Given the description of an element on the screen output the (x, y) to click on. 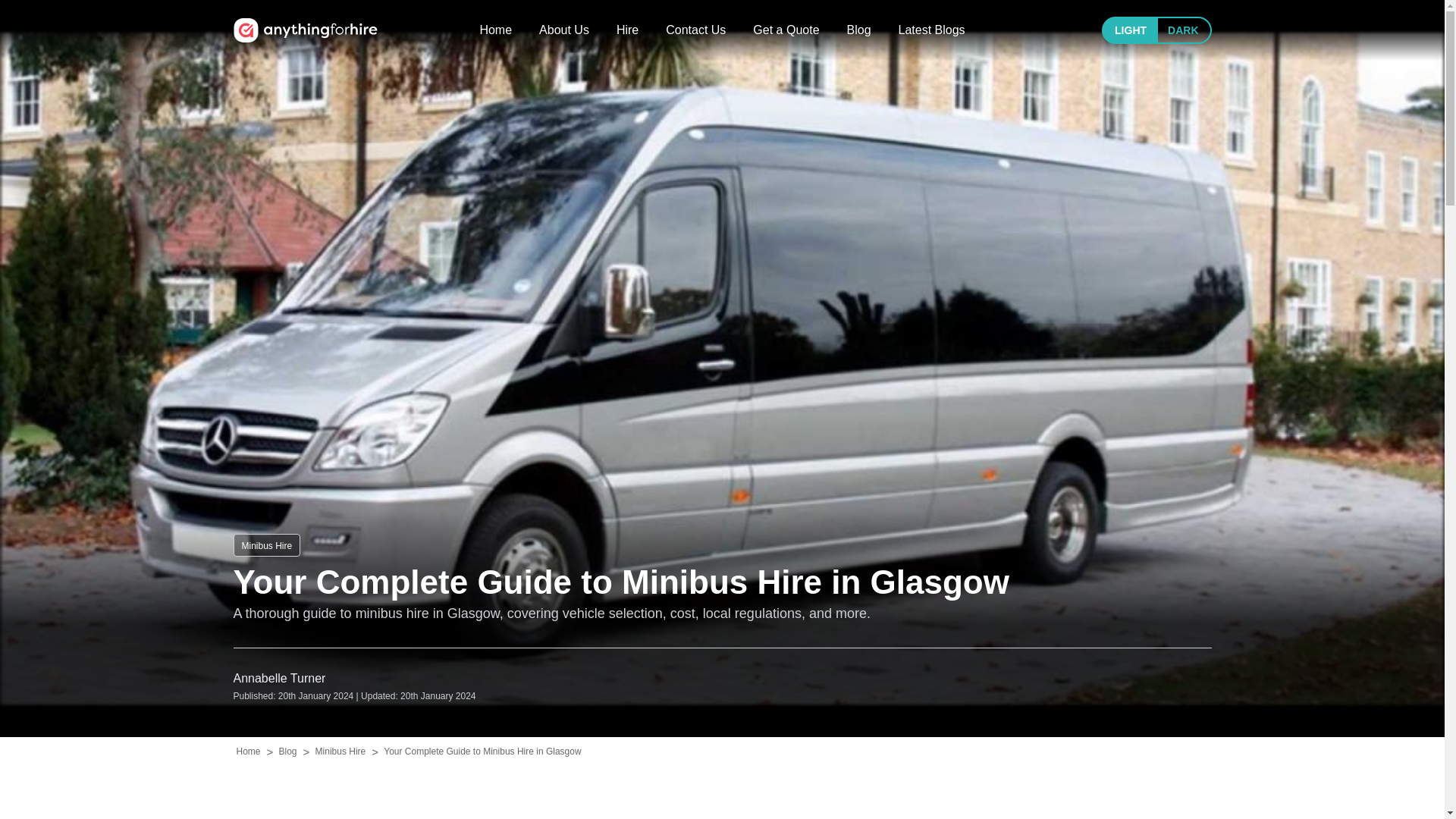
Contact Us (695, 30)
Anything for Hire (304, 30)
Get a Quote (785, 30)
Latest Blogs (931, 30)
Contact Us (695, 30)
Latest Blogs (931, 30)
Get a Quote (785, 30)
